Given the description of an element on the screen output the (x, y) to click on. 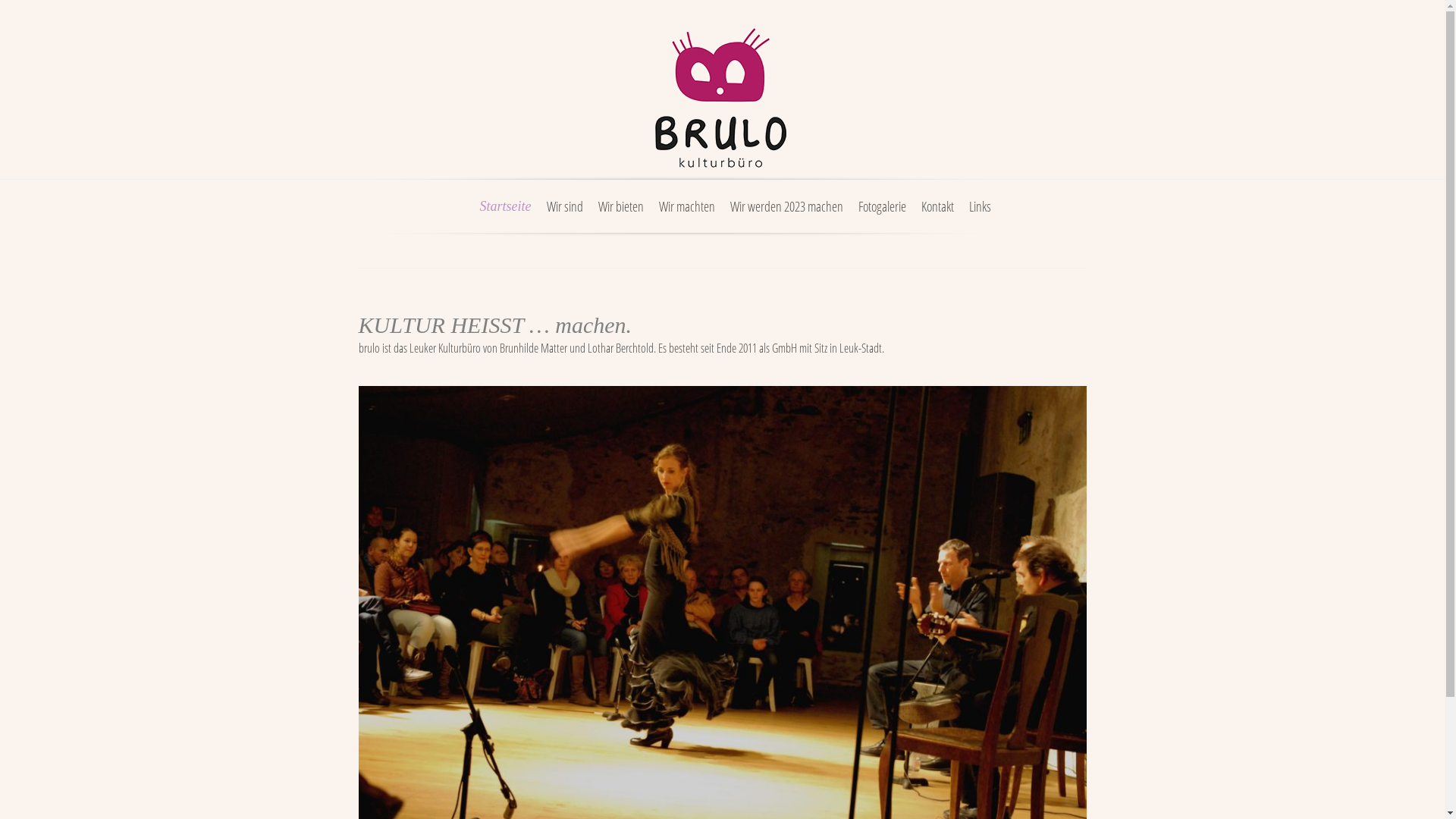
Wir machten Element type: text (685, 215)
Wir werden 2023 machen Element type: text (785, 215)
Fotogalerie Element type: text (881, 215)
Kontakt Element type: text (936, 215)
Links Element type: text (979, 215)
Wir sind Element type: text (563, 215)
Wir bieten Element type: text (619, 215)
Startseite Element type: text (504, 215)
